Given the description of an element on the screen output the (x, y) to click on. 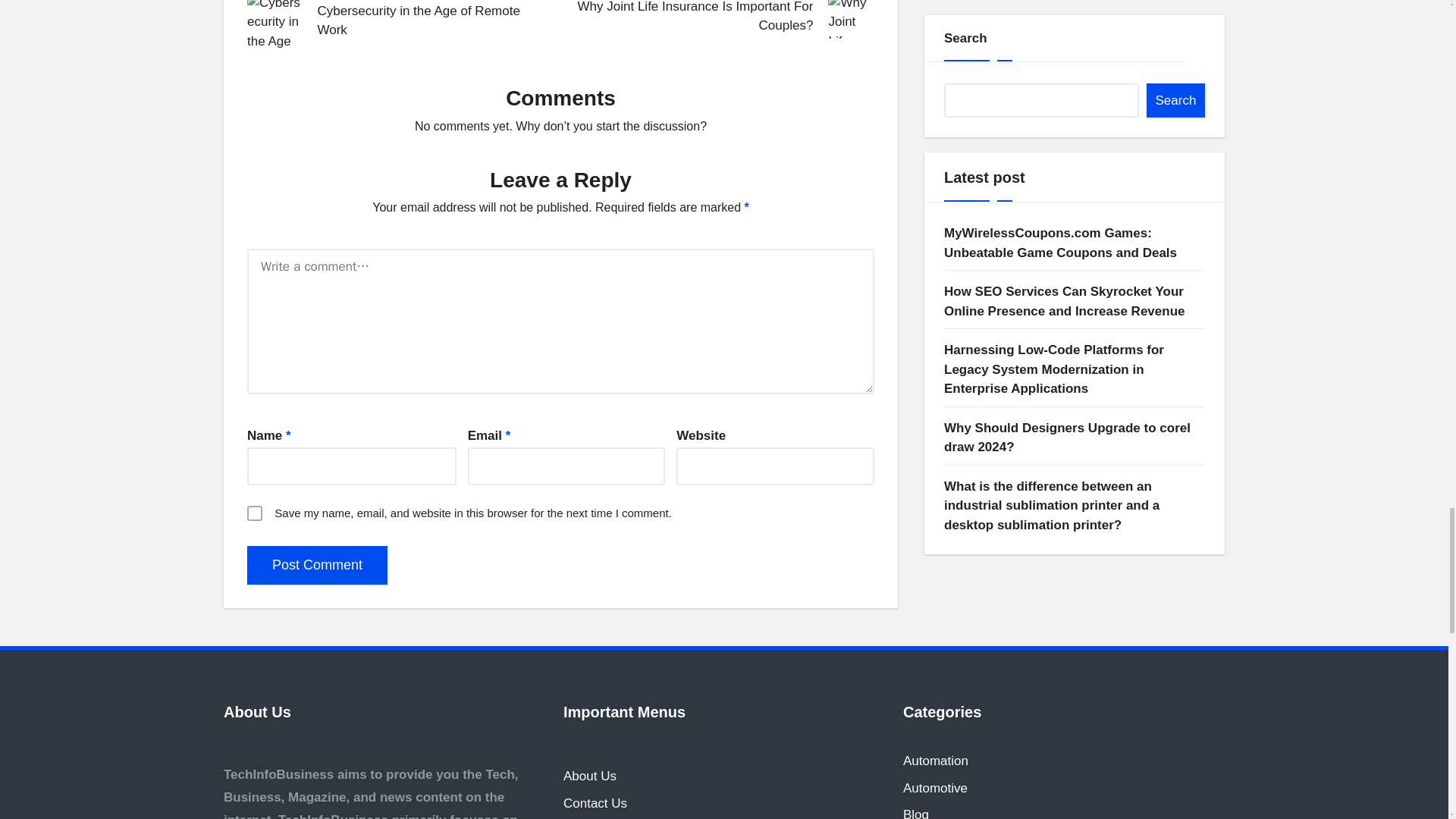
Cybersecurity in the Age of Remote Work 2 (274, 23)
yes (254, 513)
Why Joint Life Insurance Is Important For Couples? 3 (851, 19)
Post Comment (317, 565)
